Given the description of an element on the screen output the (x, y) to click on. 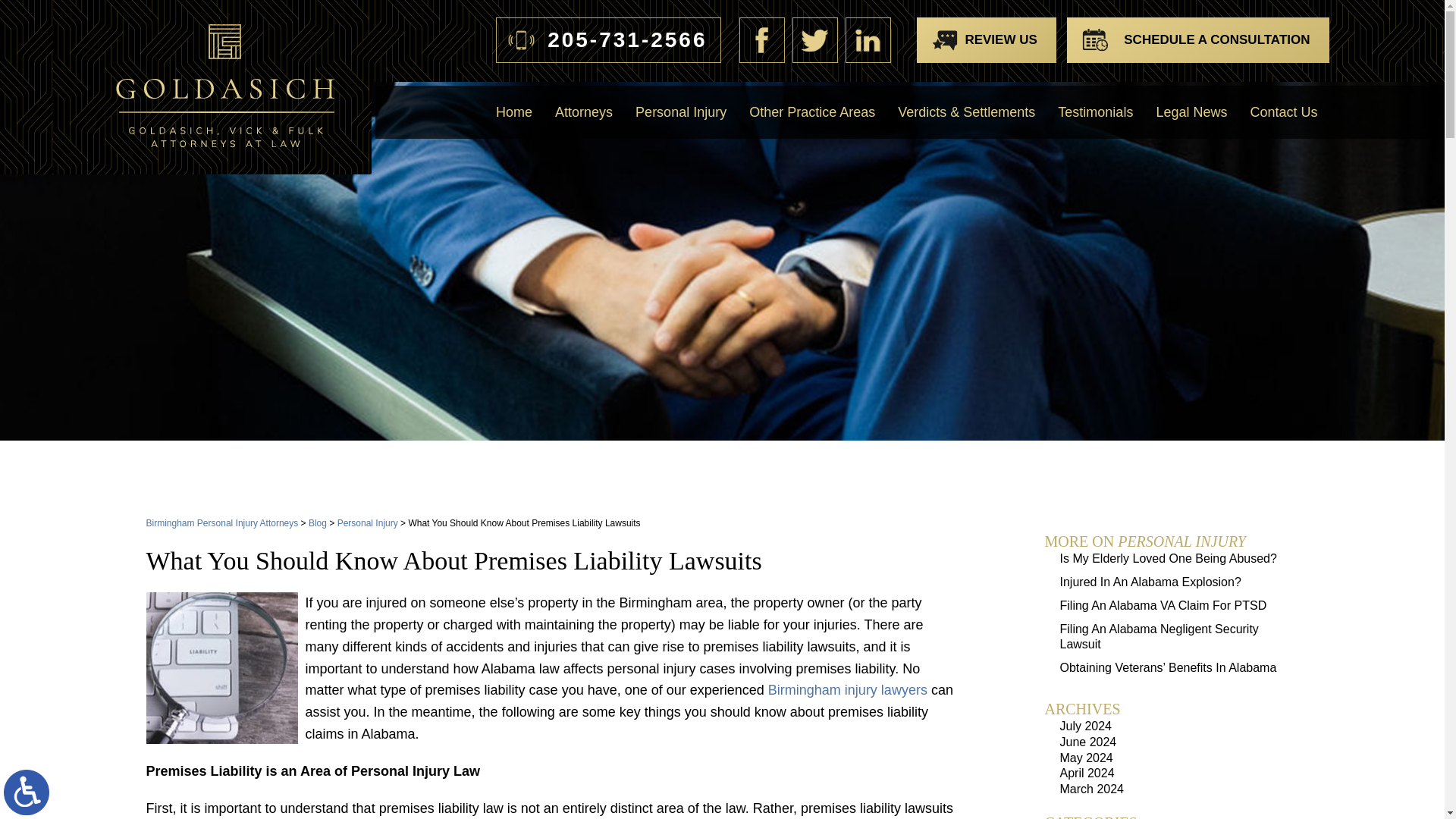
Testimonials (1095, 111)
SCHEDULE A CONSULTATION (1197, 39)
Other Practice Areas (812, 111)
Liability6 (221, 667)
REVIEW US (986, 39)
205-731-2566 (607, 40)
Switch to ADA Accessible Theme (26, 791)
Personal Injury (681, 111)
Attorneys (583, 111)
Home (513, 111)
